Given the description of an element on the screen output the (x, y) to click on. 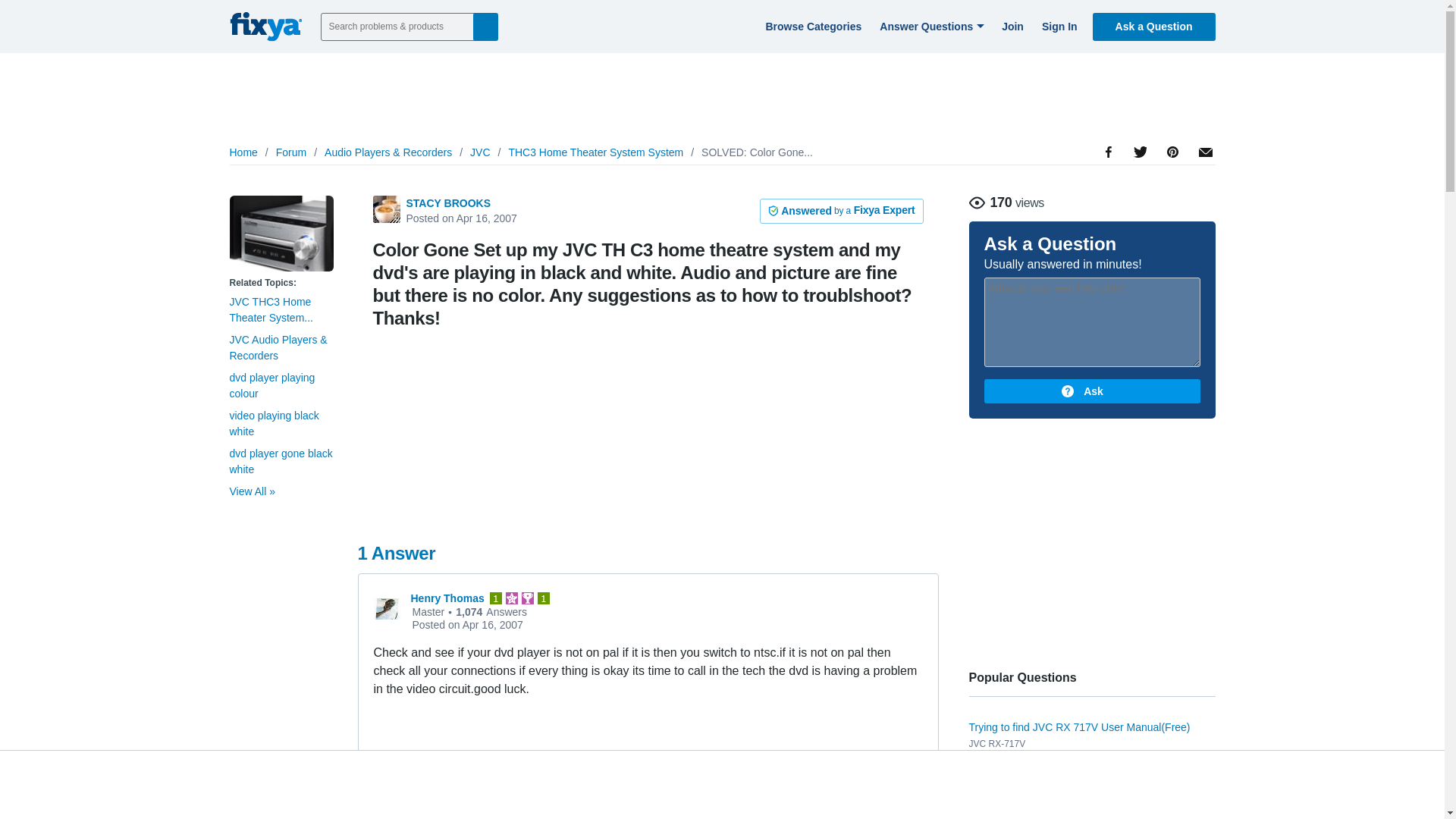
Answer Questions (929, 26)
Ask a Question (1154, 26)
Forum (290, 152)
Search Fixya (485, 26)
dvd player playing colour (271, 385)
JVC THC3 Home Theater System... (270, 309)
dvd player gone black white (279, 461)
Browse Categories (810, 26)
Search Fixya (485, 26)
JVC (479, 152)
